Given the description of an element on the screen output the (x, y) to click on. 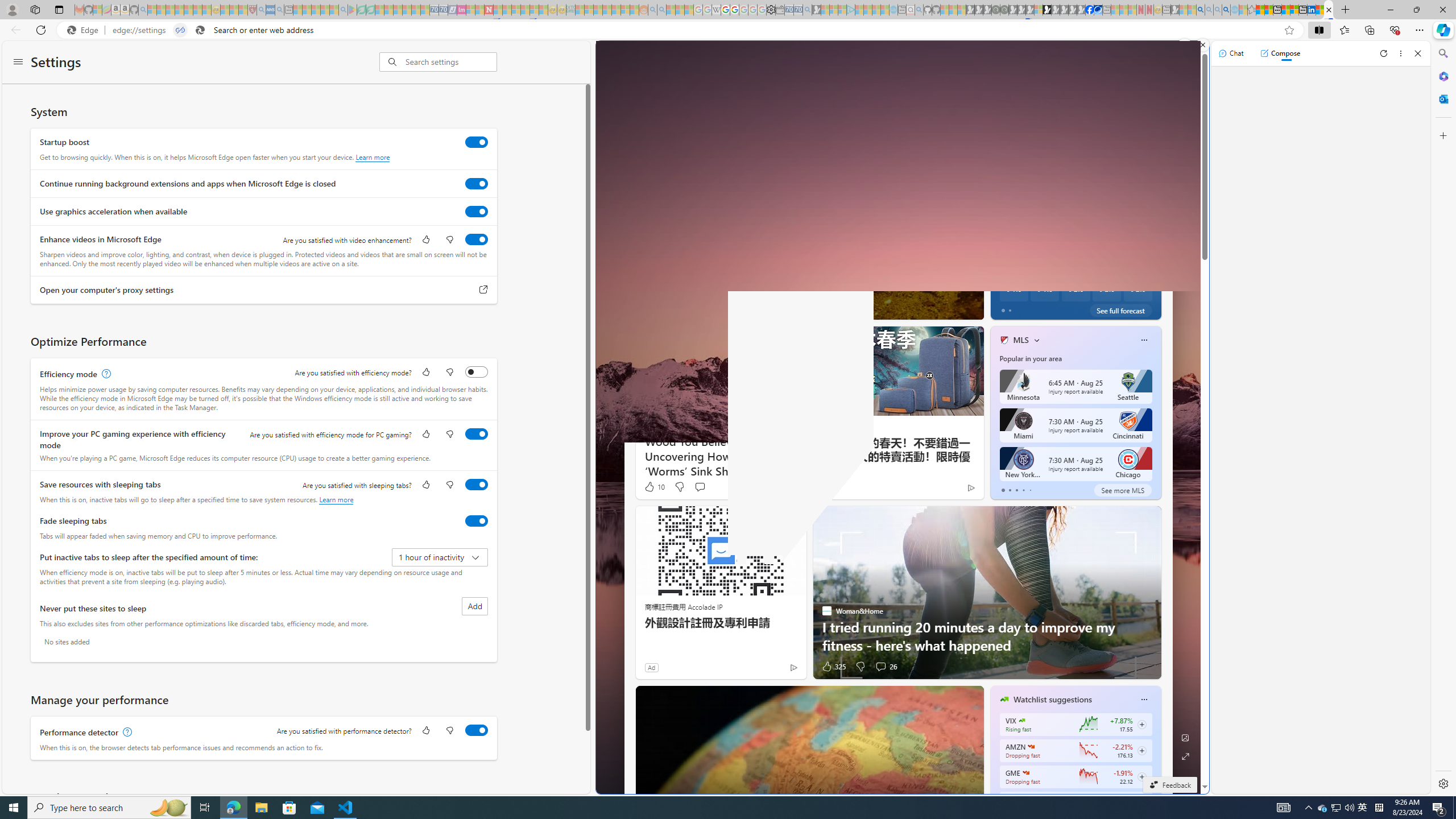
AutomationID: tab-20 (808, 308)
Feed settings (1125, 132)
AutomationID: backgroundImagePicture (898, 416)
